Given the description of an element on the screen output the (x, y) to click on. 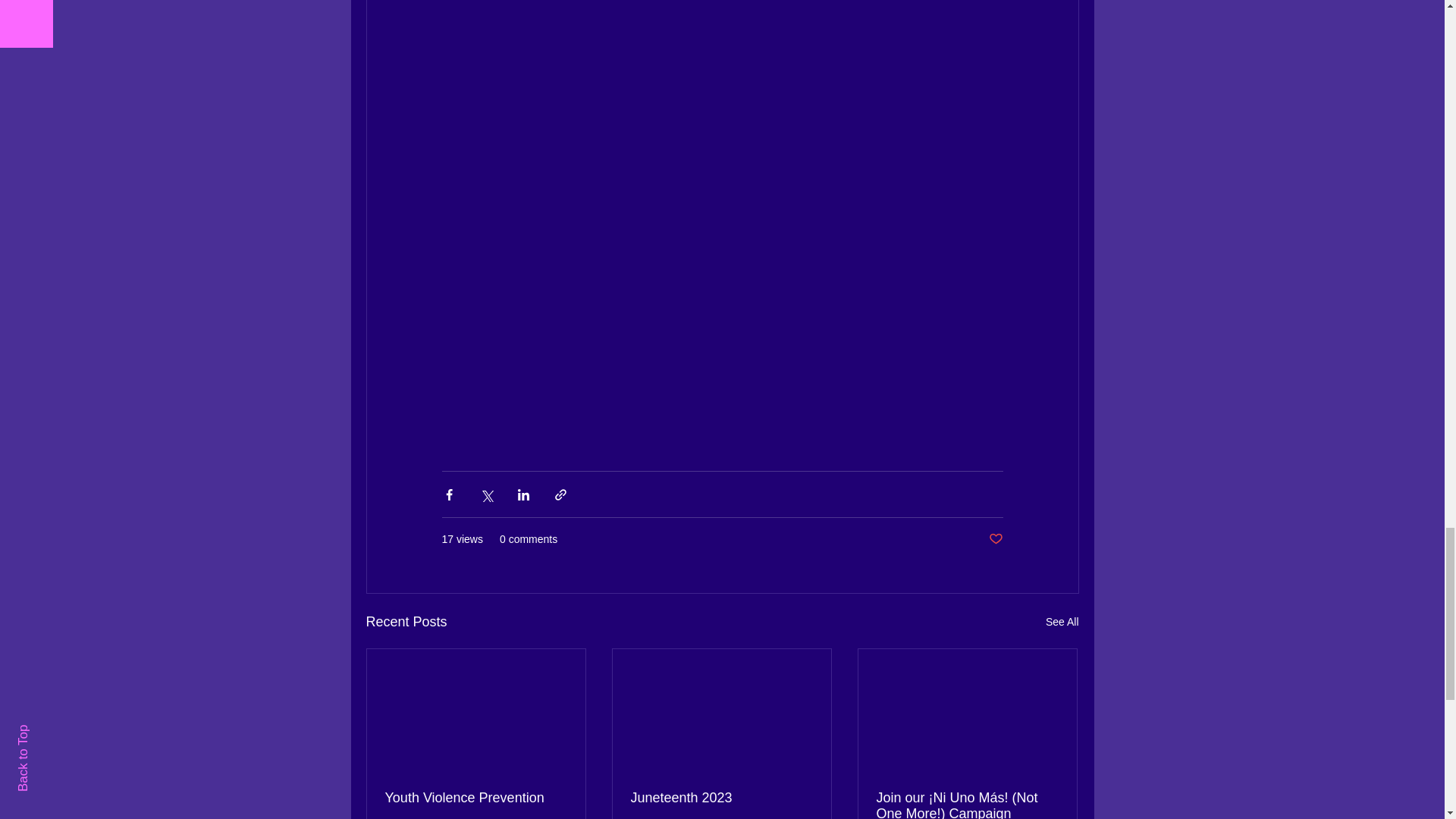
See All (1061, 621)
Youth Violence Prevention (476, 797)
Post not marked as liked (995, 539)
Juneteenth 2023 (721, 797)
